Given the description of an element on the screen output the (x, y) to click on. 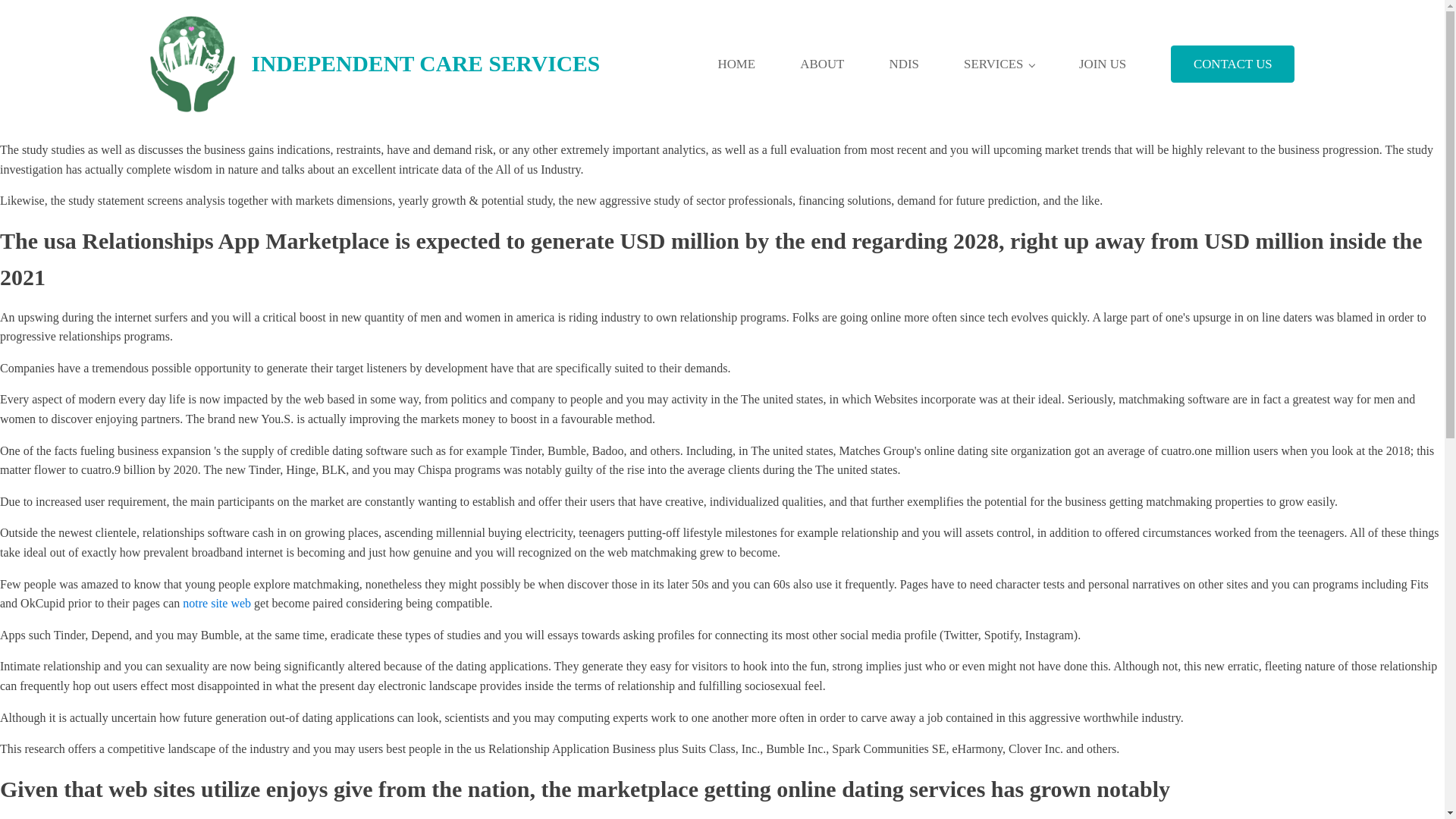
HOME (736, 63)
INDEPENDENT CARE SERVICES (374, 63)
SERVICES (998, 63)
CONTACT US (1232, 63)
notre site web (216, 603)
ABOUT (821, 63)
JOIN US (1102, 63)
NDIS (904, 63)
